Given the description of an element on the screen output the (x, y) to click on. 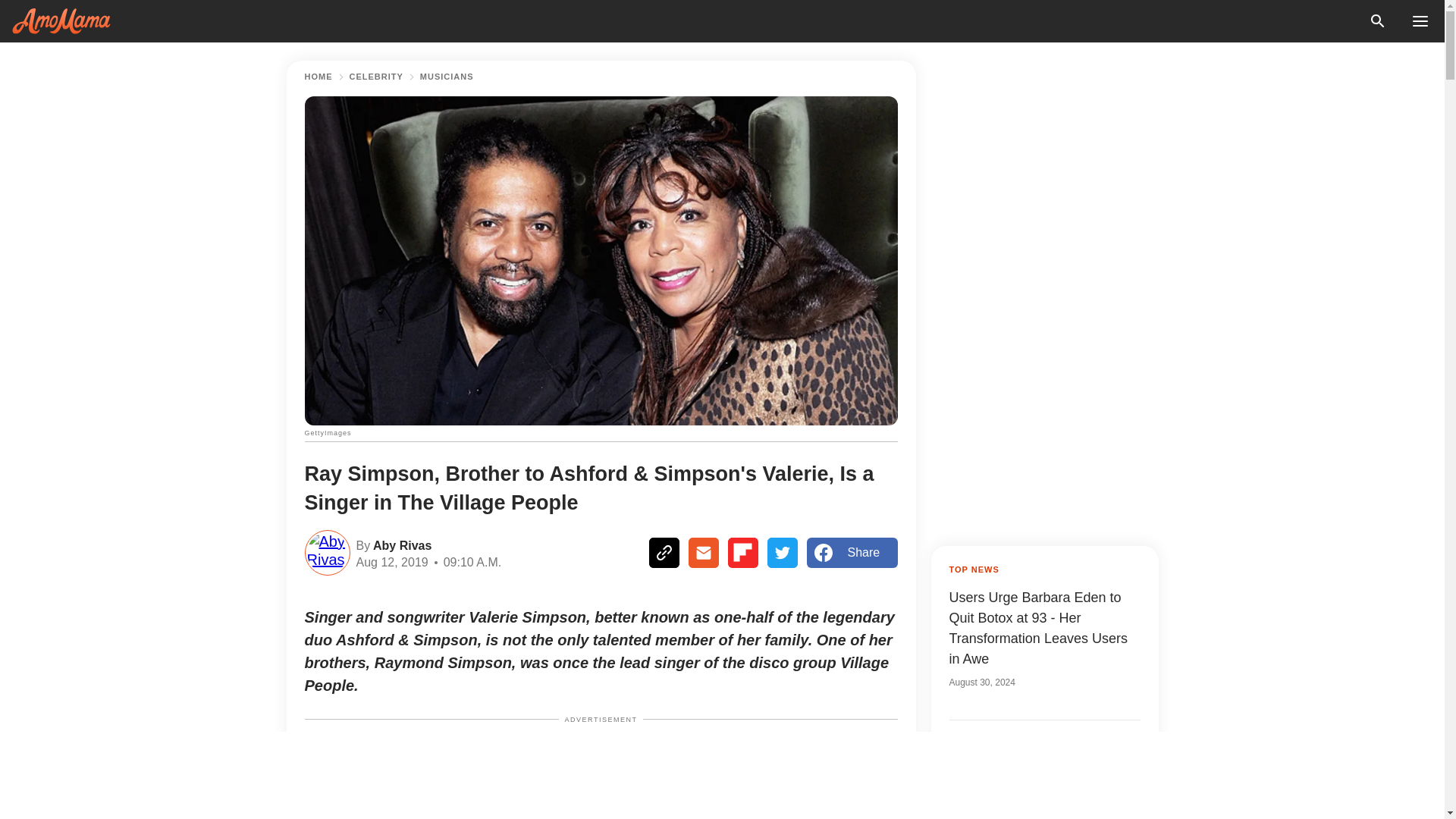
CELEBRITY (376, 76)
MUSICIANS (447, 76)
Aby Rivas (399, 544)
HOME (318, 76)
